Given the description of an element on the screen output the (x, y) to click on. 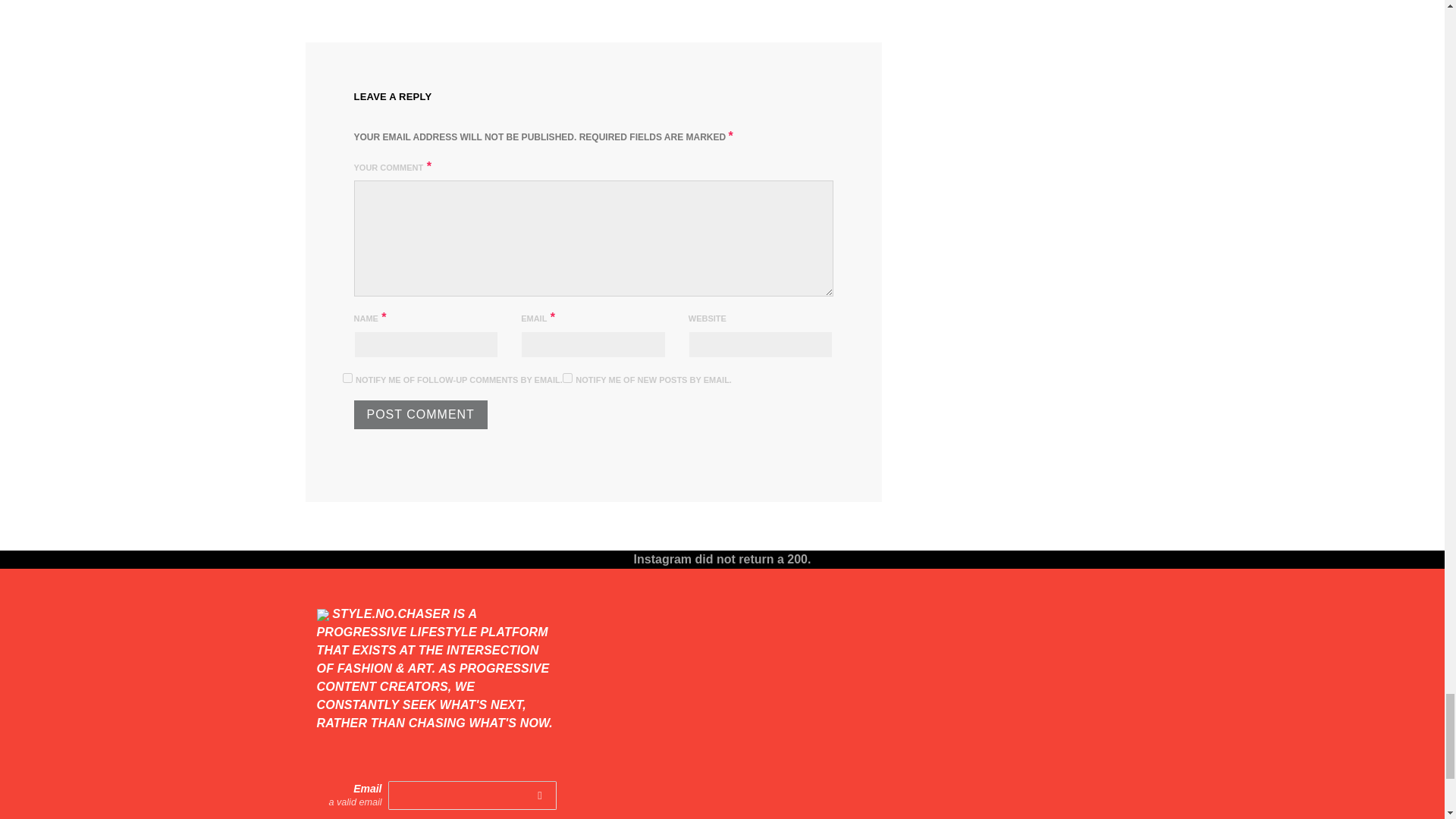
subscribe (567, 378)
subscribe (347, 378)
Post Comment (419, 414)
